Given the description of an element on the screen output the (x, y) to click on. 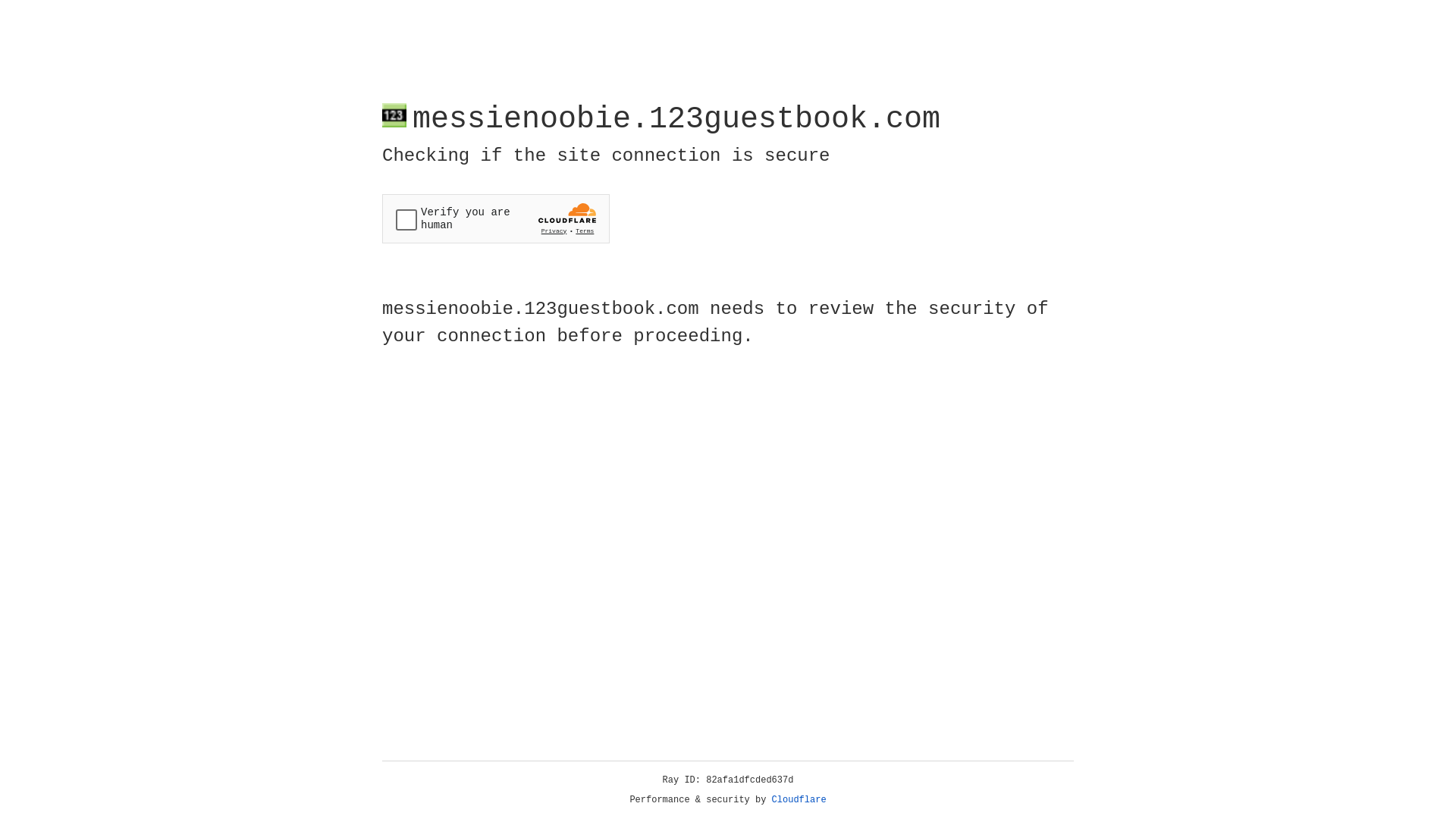
Widget containing a Cloudflare security challenge Element type: hover (495, 218)
Cloudflare Element type: text (798, 799)
